Given the description of an element on the screen output the (x, y) to click on. 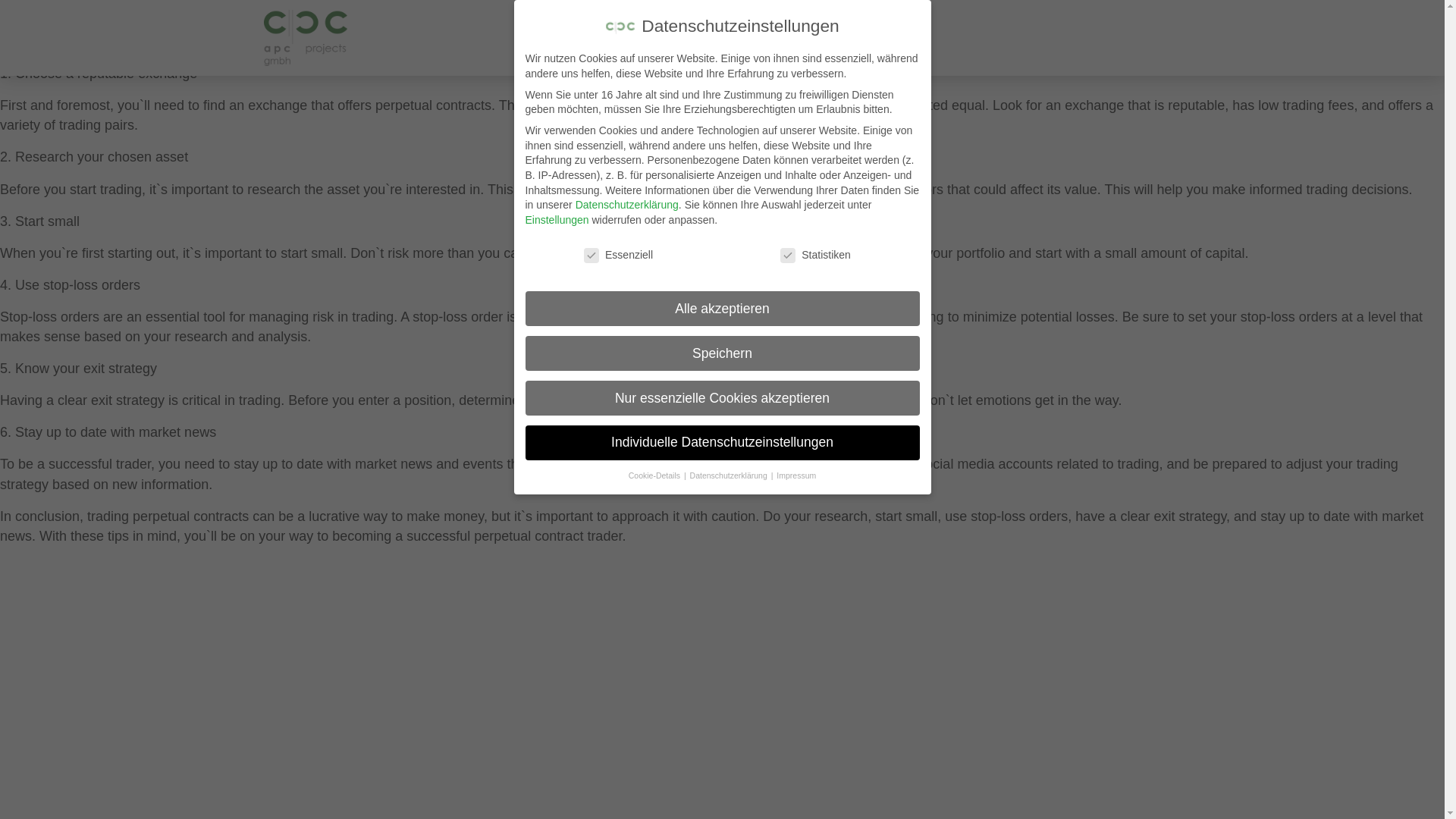
Cookie-Details (655, 360)
Speichern (721, 171)
Alle akzeptieren (721, 99)
Individuelle Datenschutzeinstellungen (721, 308)
Impressum (795, 393)
Nur essenzielle Cookies akzeptieren (721, 240)
